Given the description of an element on the screen output the (x, y) to click on. 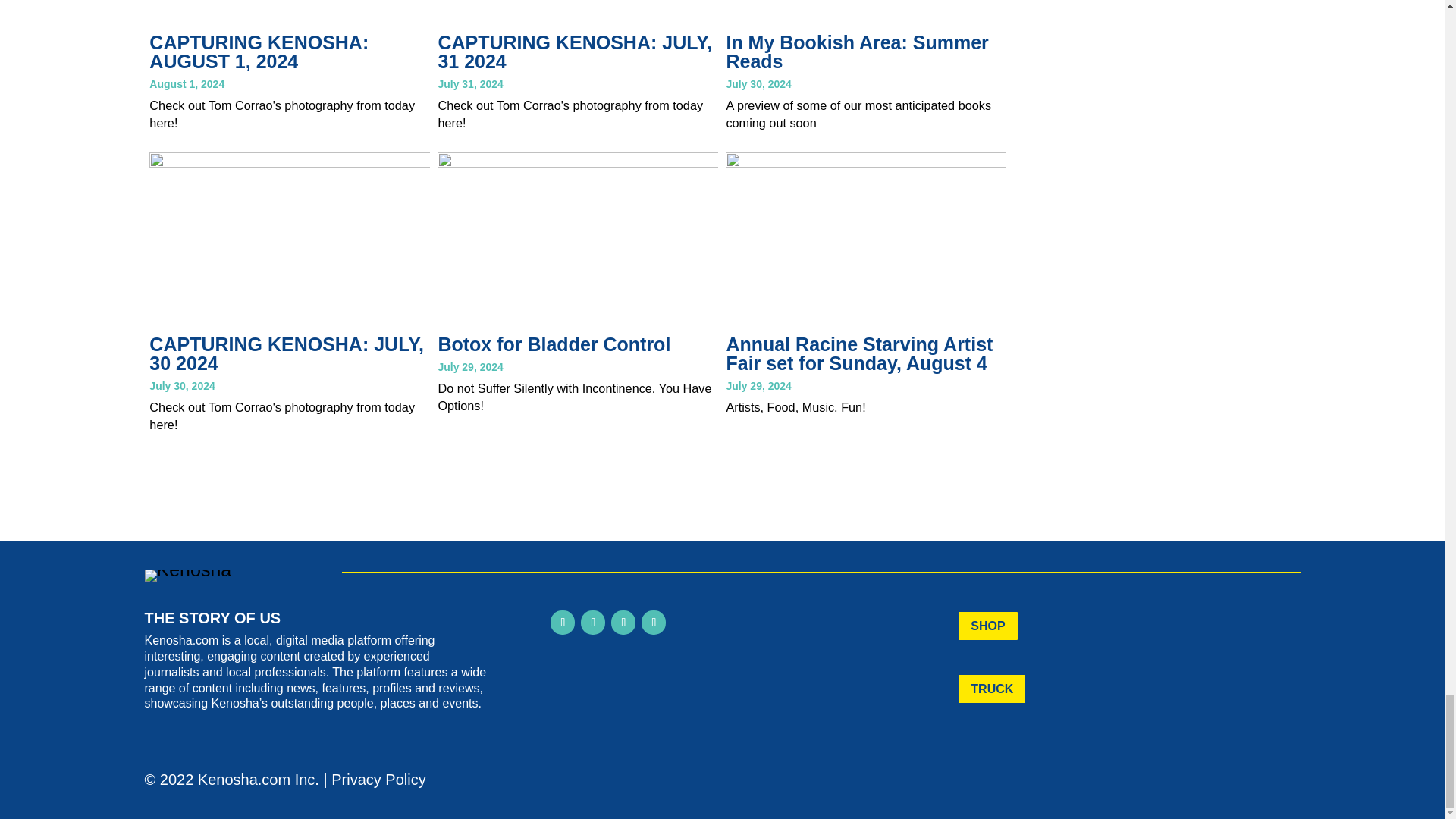
footer-logo (187, 575)
Follow on Facebook (562, 622)
Follow on LinkedIn (622, 622)
Follow on Instagram (592, 622)
